Given the description of an element on the screen output the (x, y) to click on. 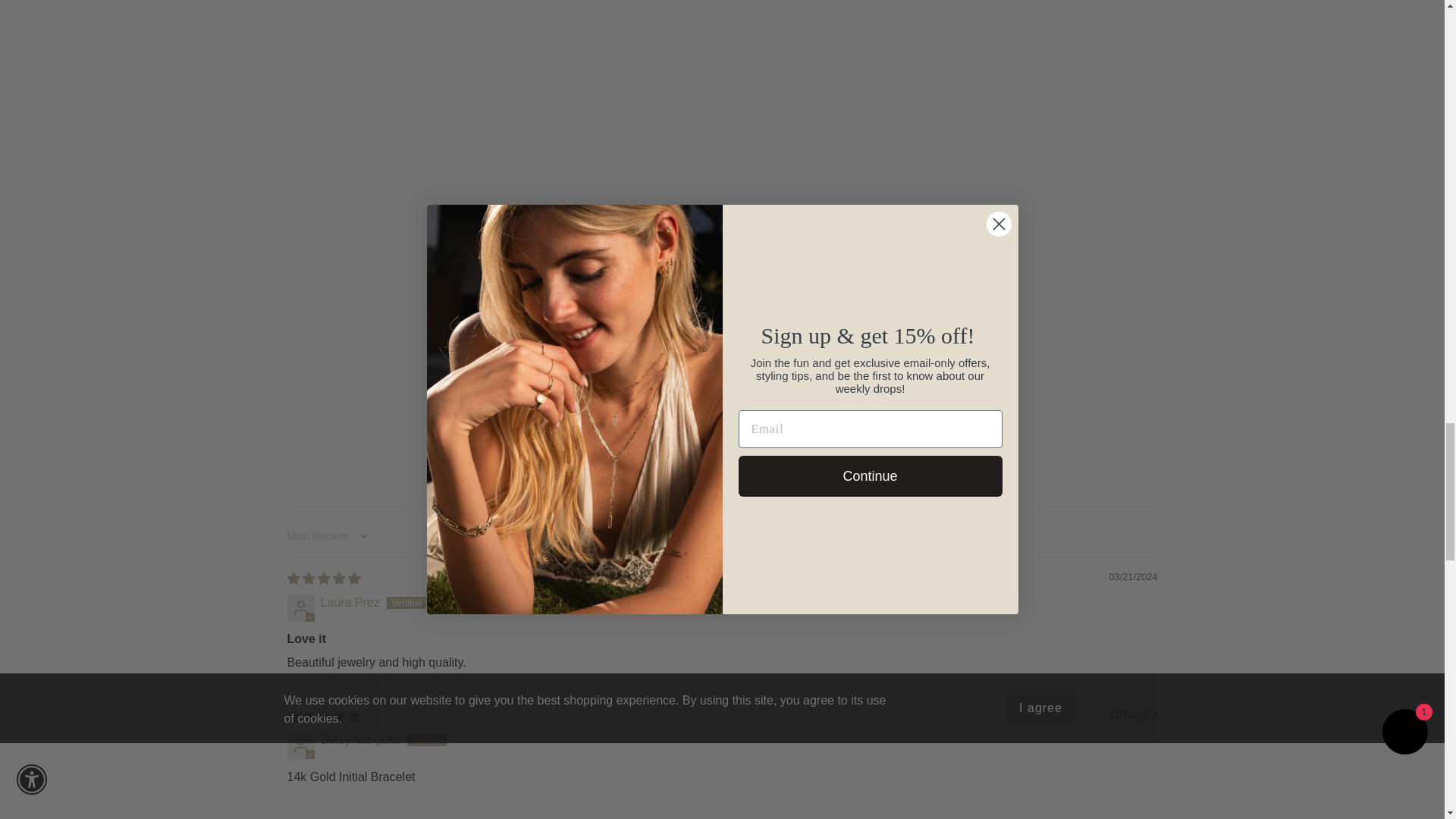
14k Gold Initial Bracelet (317, 85)
